Given the description of an element on the screen output the (x, y) to click on. 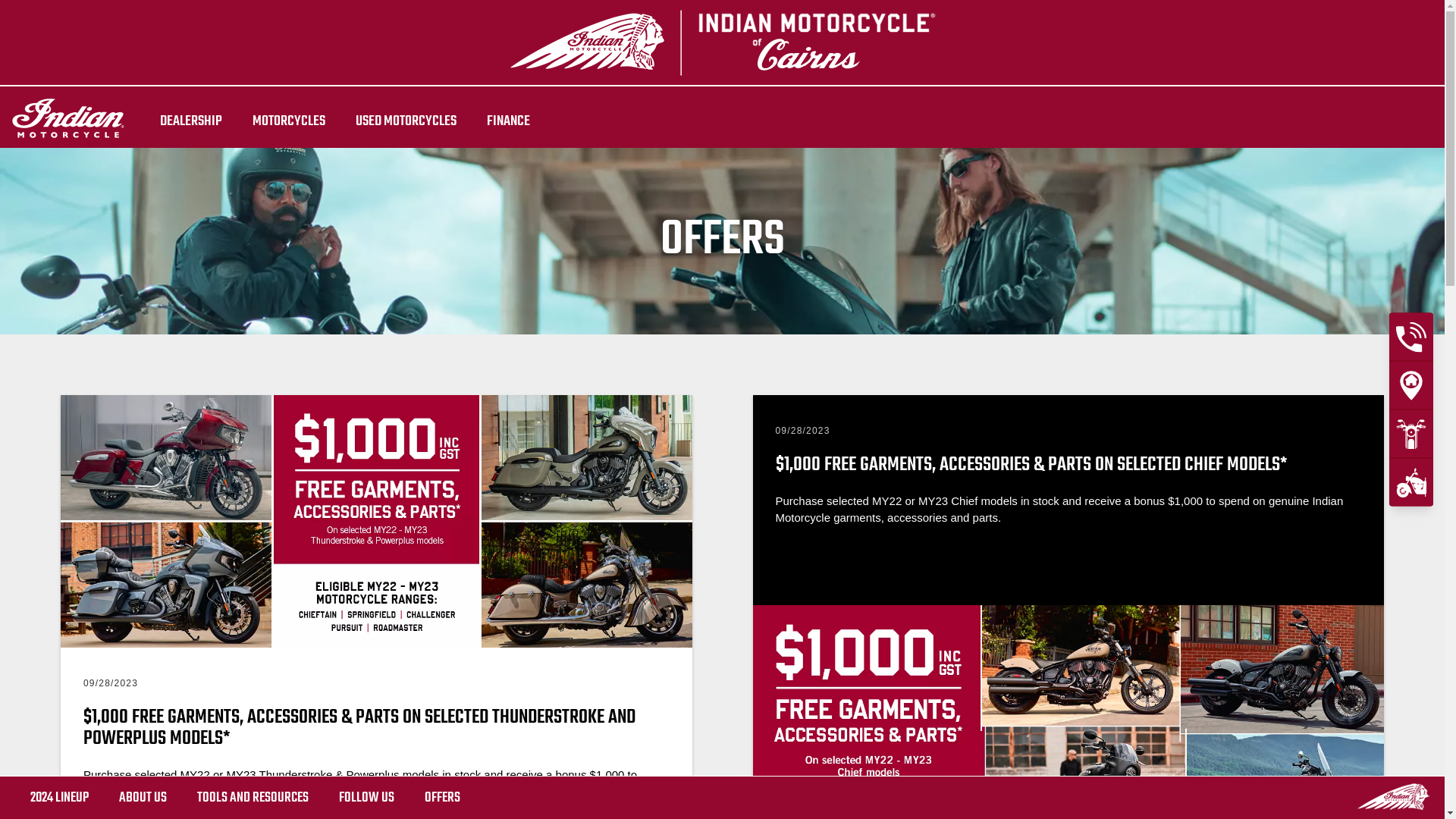
2024 LINEUP Element type: text (59, 797)
FOLLOW US Element type: text (366, 797)
USED MOTORCYCLES Element type: text (405, 121)
MOTORCYCLES Element type: text (288, 121)
FINANCE Element type: text (508, 121)
ABOUT US Element type: text (142, 797)
Indian Motorcycle Element type: hover (1392, 795)
OFFERS Element type: text (442, 797)
TOOLS AND RESOURCES Element type: text (252, 797)
DEALERSHIP Element type: text (190, 121)
